Given the description of an element on the screen output the (x, y) to click on. 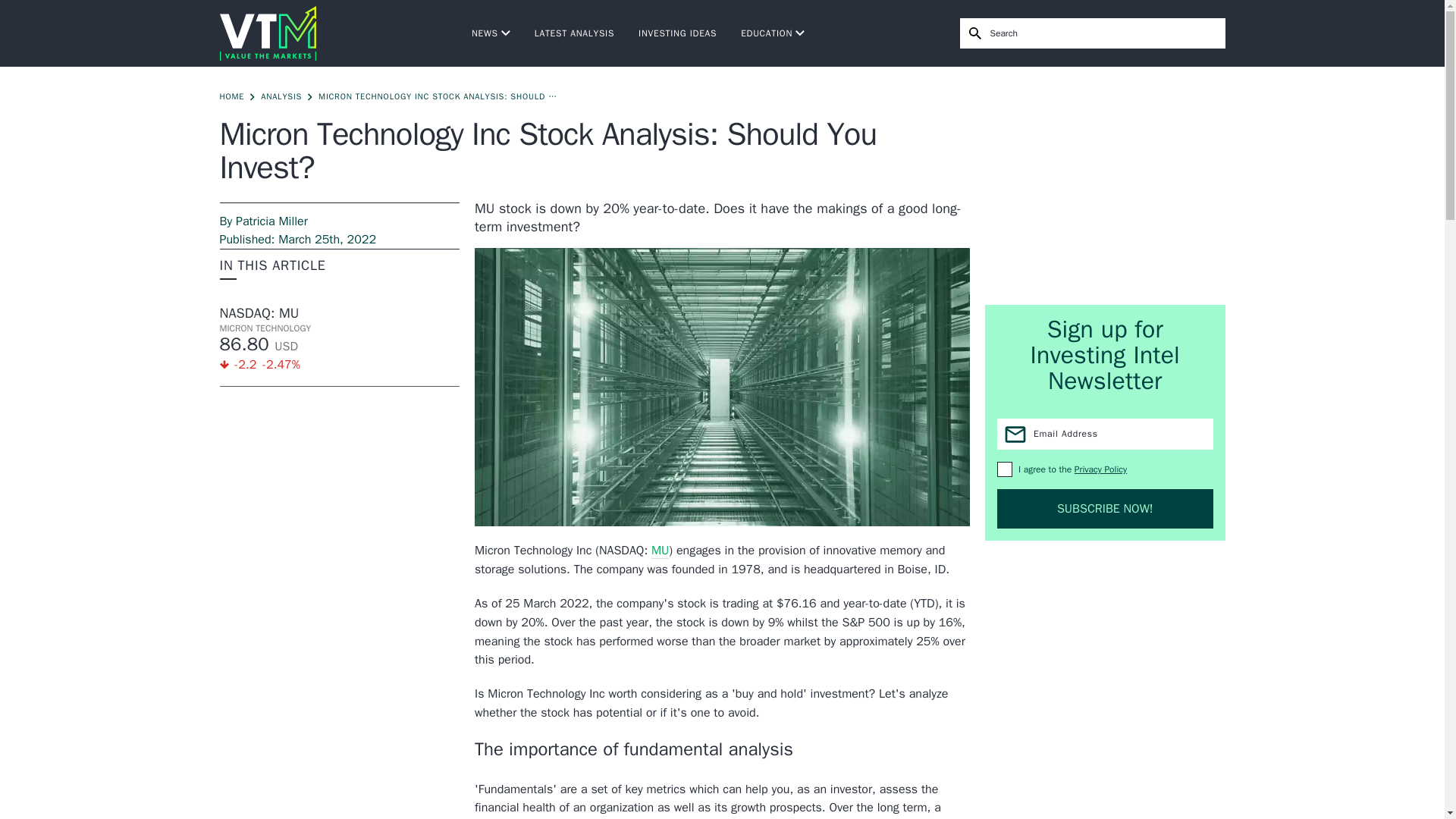
Privacy Policy (1100, 469)
Yes (1004, 468)
Advertisement (1105, 185)
MICRON TECHNOLOGY INC STOCK ANALYSIS: SHOULD YOU INVEST? (439, 96)
EDUCATION (773, 33)
ANALYSIS (280, 96)
LATEST ANALYSIS (574, 33)
NASDAQ: MU (339, 312)
MU (659, 550)
INVESTING IDEAS (677, 33)
NEWS (491, 33)
HOME (231, 96)
